Given the description of an element on the screen output the (x, y) to click on. 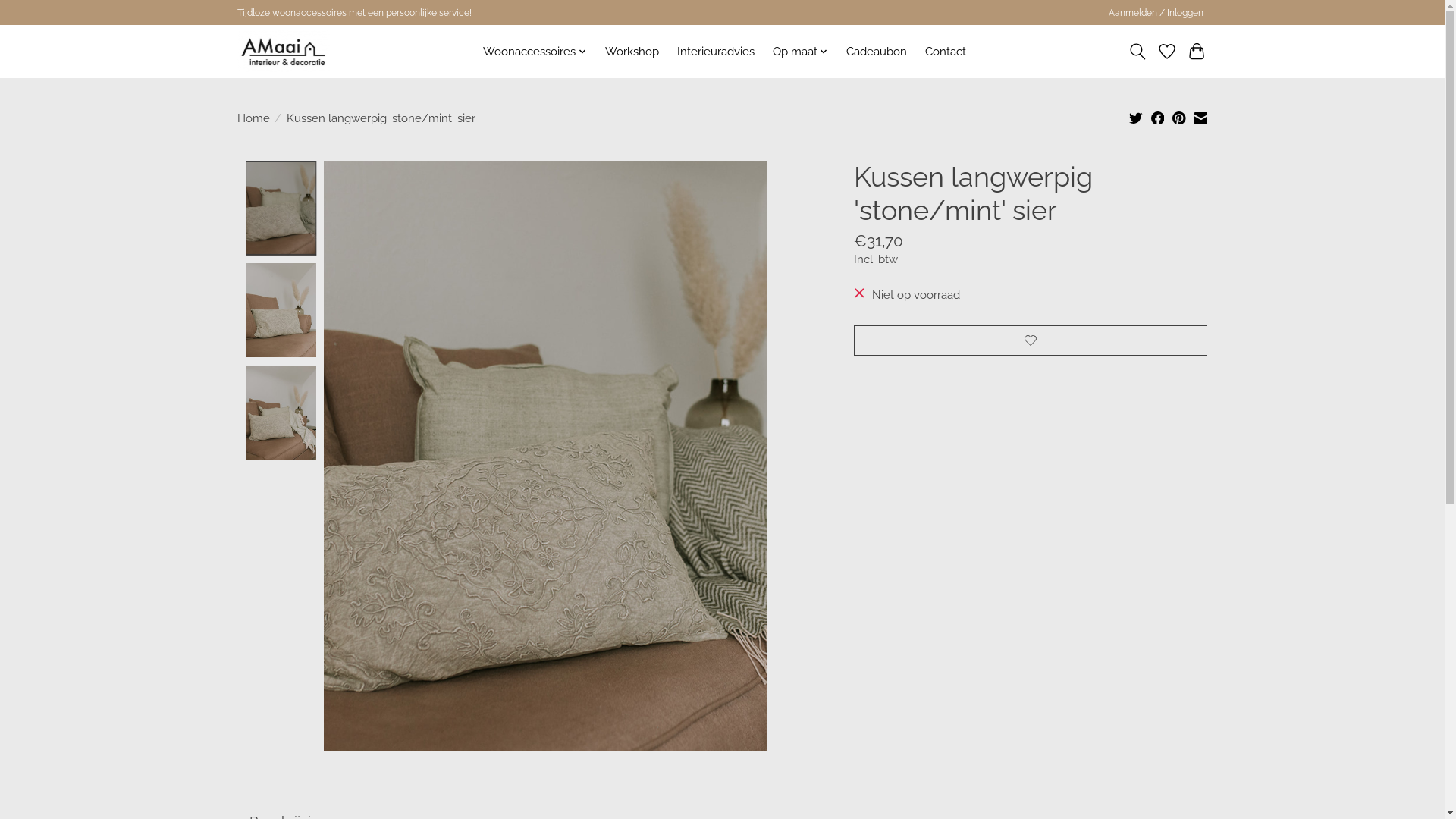
AMaai - interieur en decoratie Element type: hover (282, 51)
Woonaccessoires Element type: text (534, 51)
Share on Pinterest Element type: text (1179, 119)
Cadeaubon Element type: text (876, 51)
Workshop Element type: text (631, 51)
Interieuradvies Element type: text (715, 51)
Share on Twitter Element type: text (1135, 119)
Contact Element type: text (945, 51)
Home Element type: text (252, 116)
Share by Email Element type: text (1201, 119)
Share on Facebook Element type: text (1157, 119)
Op maat Element type: text (800, 51)
Aanmelden / Inloggen Element type: text (1155, 12)
